Given the description of an element on the screen output the (x, y) to click on. 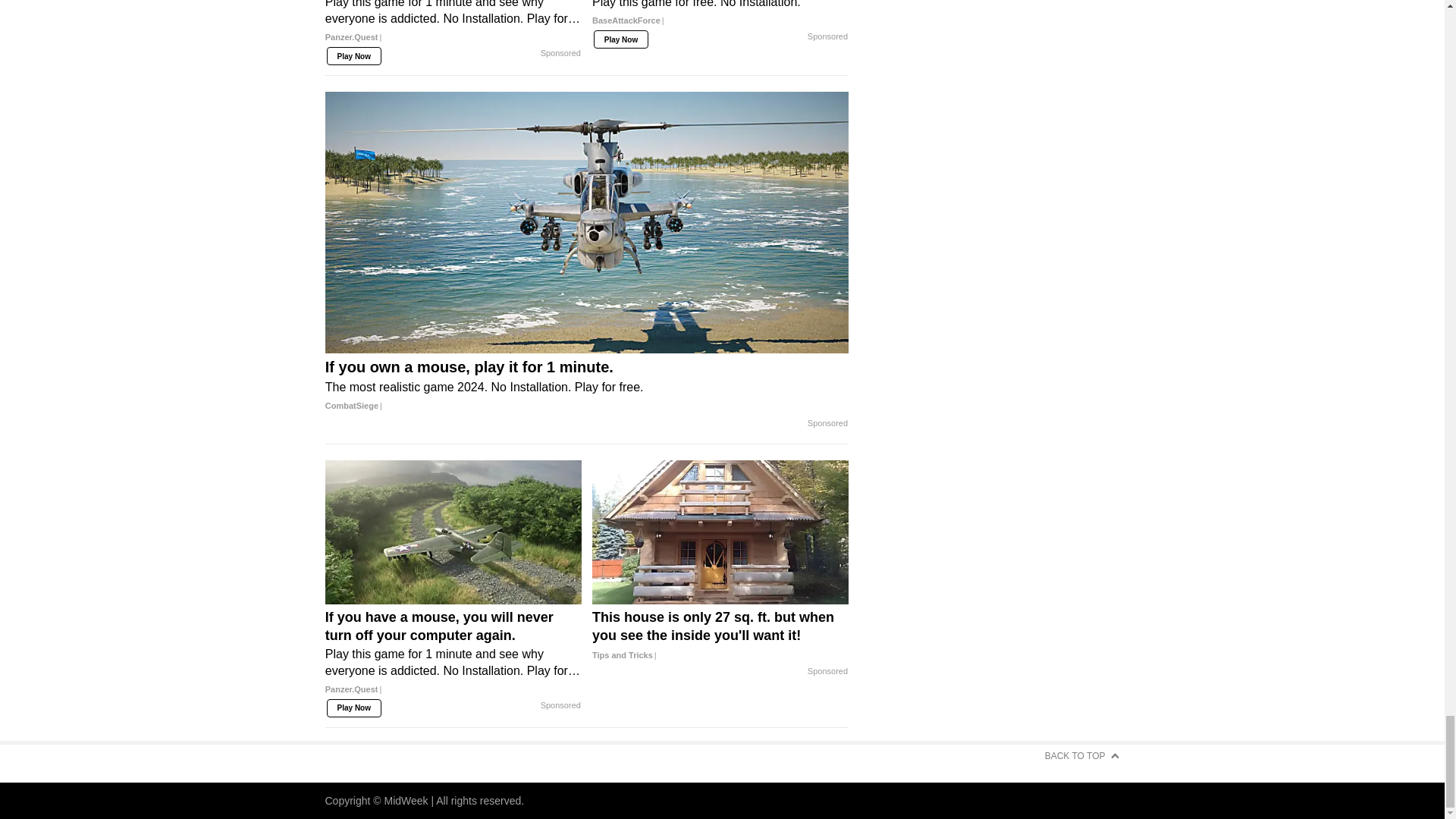
If you own a mouse, play it for 1 minute. (586, 386)
